Given the description of an element on the screen output the (x, y) to click on. 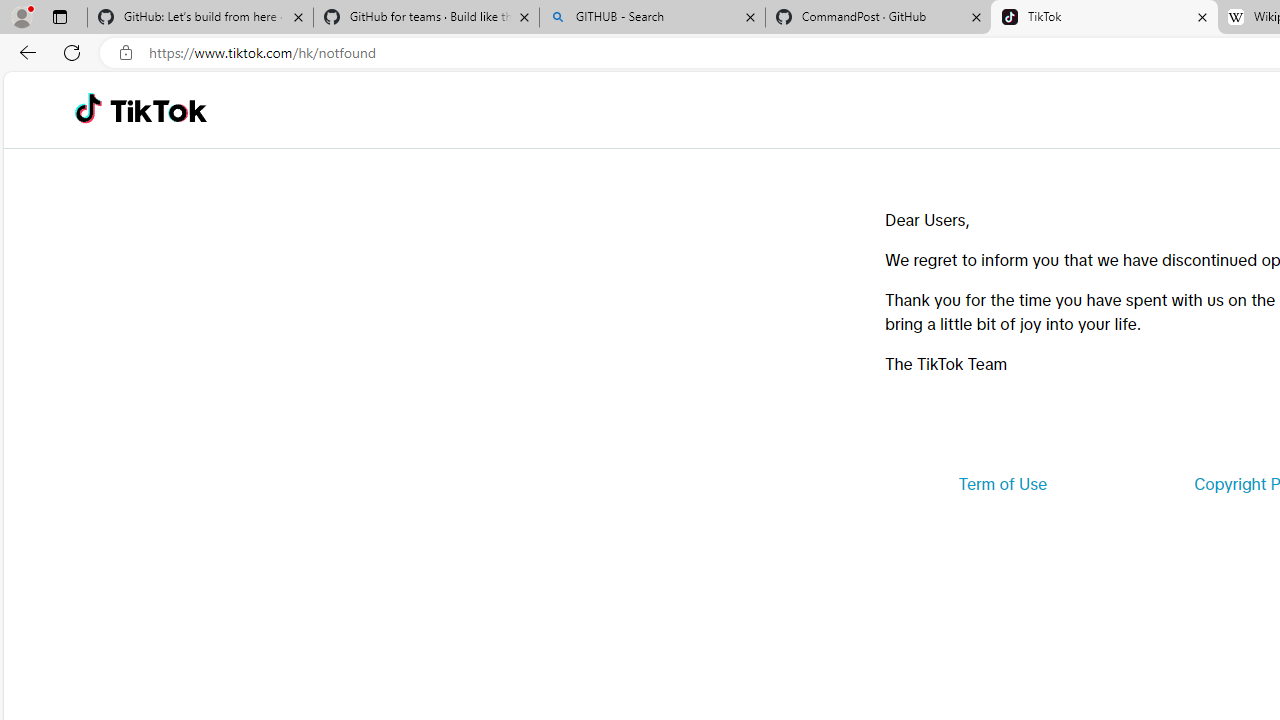
GITHUB - Search (652, 17)
TikTok (1104, 17)
TikTok (158, 110)
Term of Use (1002, 484)
